Given the description of an element on the screen output the (x, y) to click on. 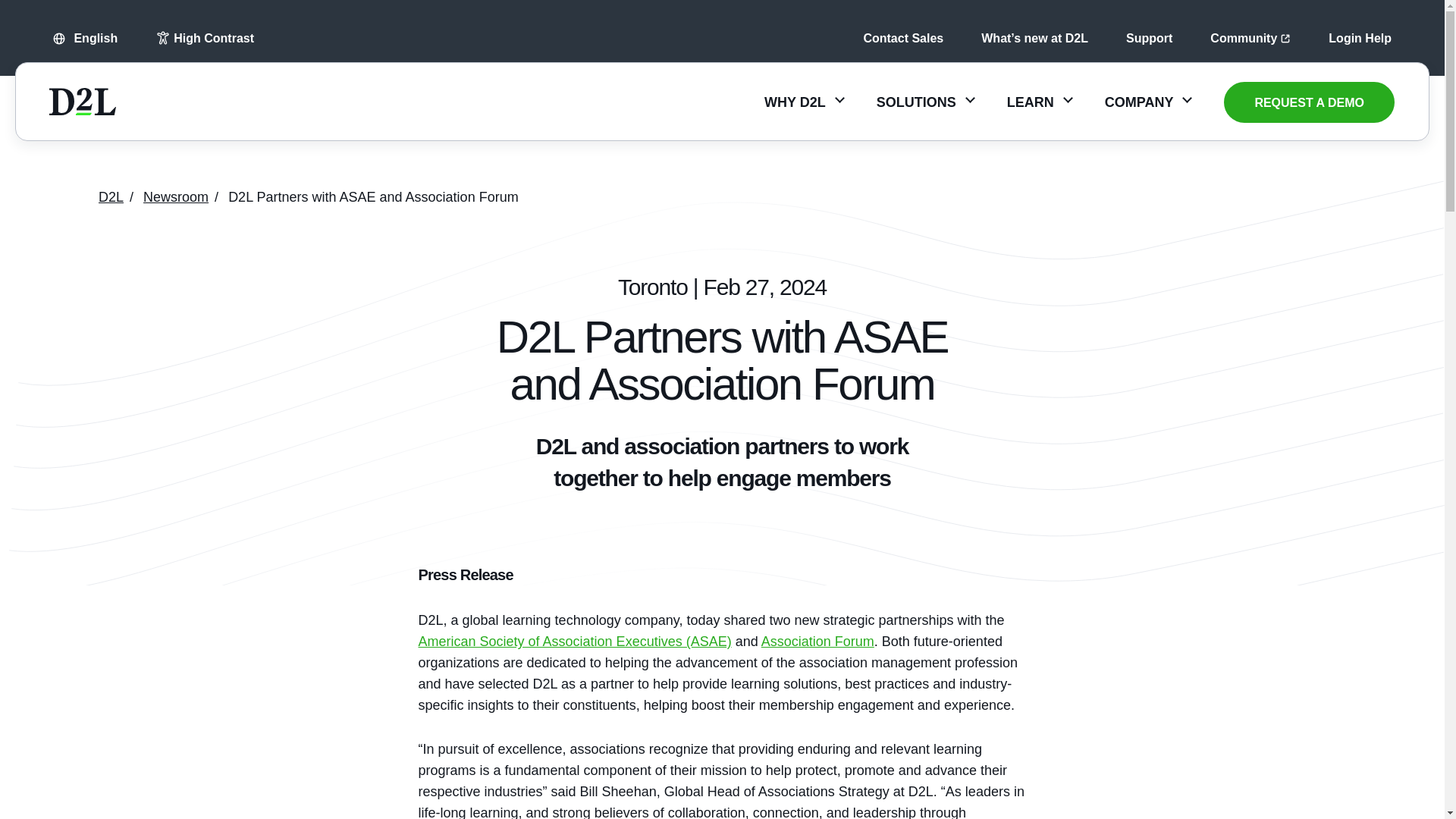
WHY D2L (803, 102)
Login Help (1359, 38)
Community (1249, 38)
Go to D2L. (111, 196)
Go to Newsroom. (175, 196)
SOLUTIONS (925, 102)
English (82, 38)
Support (1148, 38)
High Contrast (204, 38)
Contact Sales (903, 38)
